Given the description of an element on the screen output the (x, y) to click on. 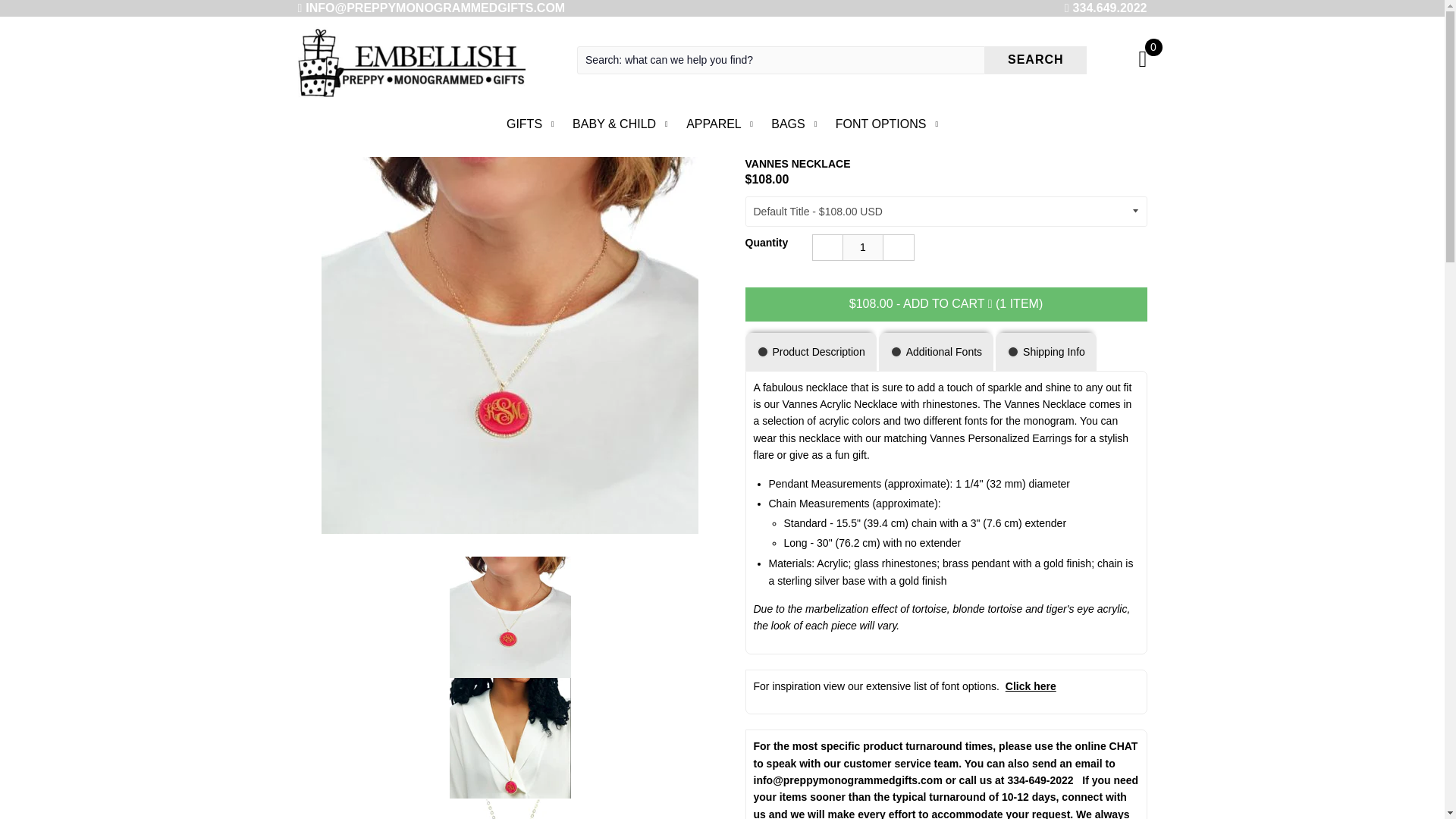
1 (863, 247)
334.649.2022 (1110, 7)
